Given the description of an element on the screen output the (x, y) to click on. 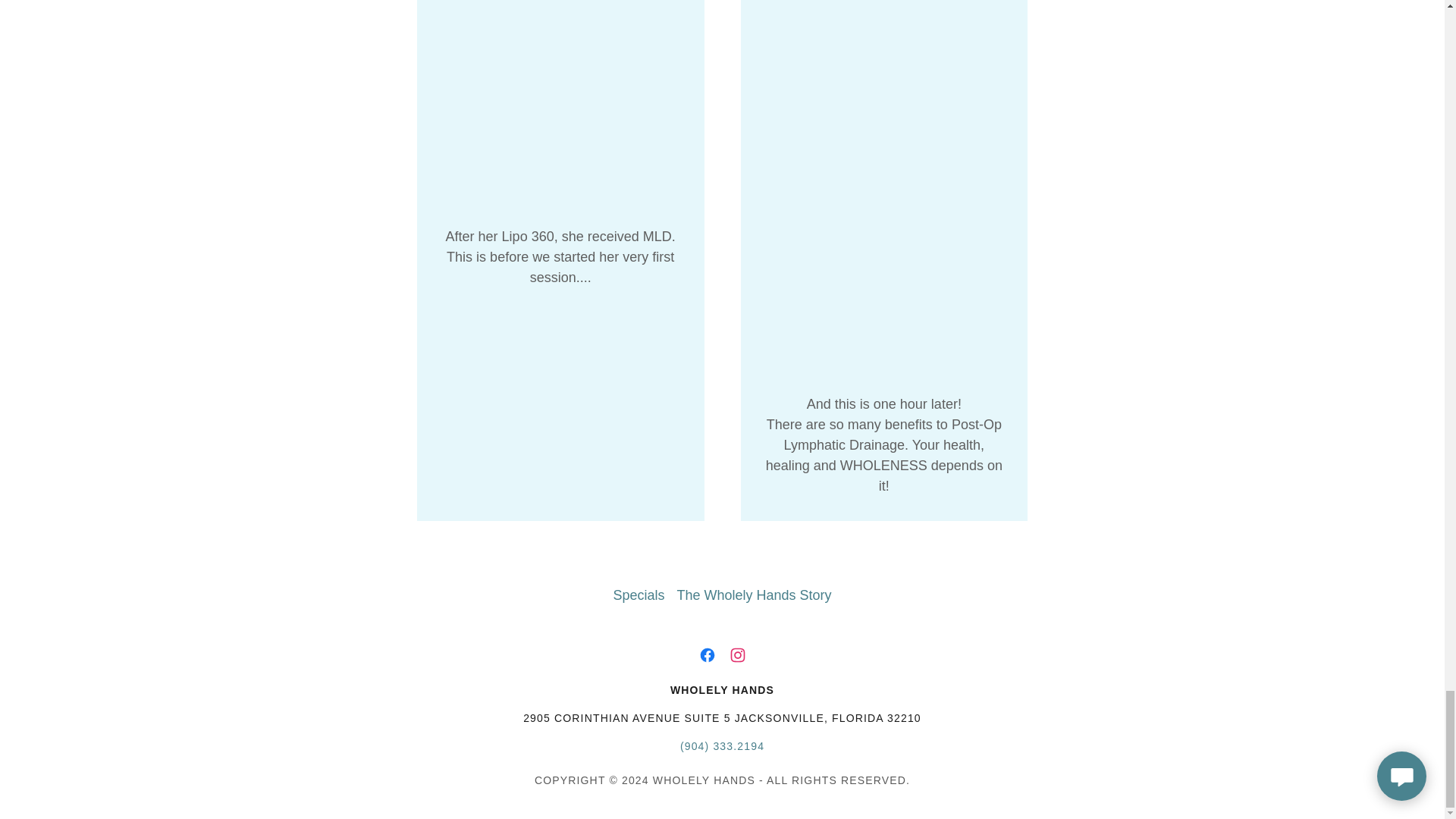
Specials (638, 595)
